Given the description of an element on the screen output the (x, y) to click on. 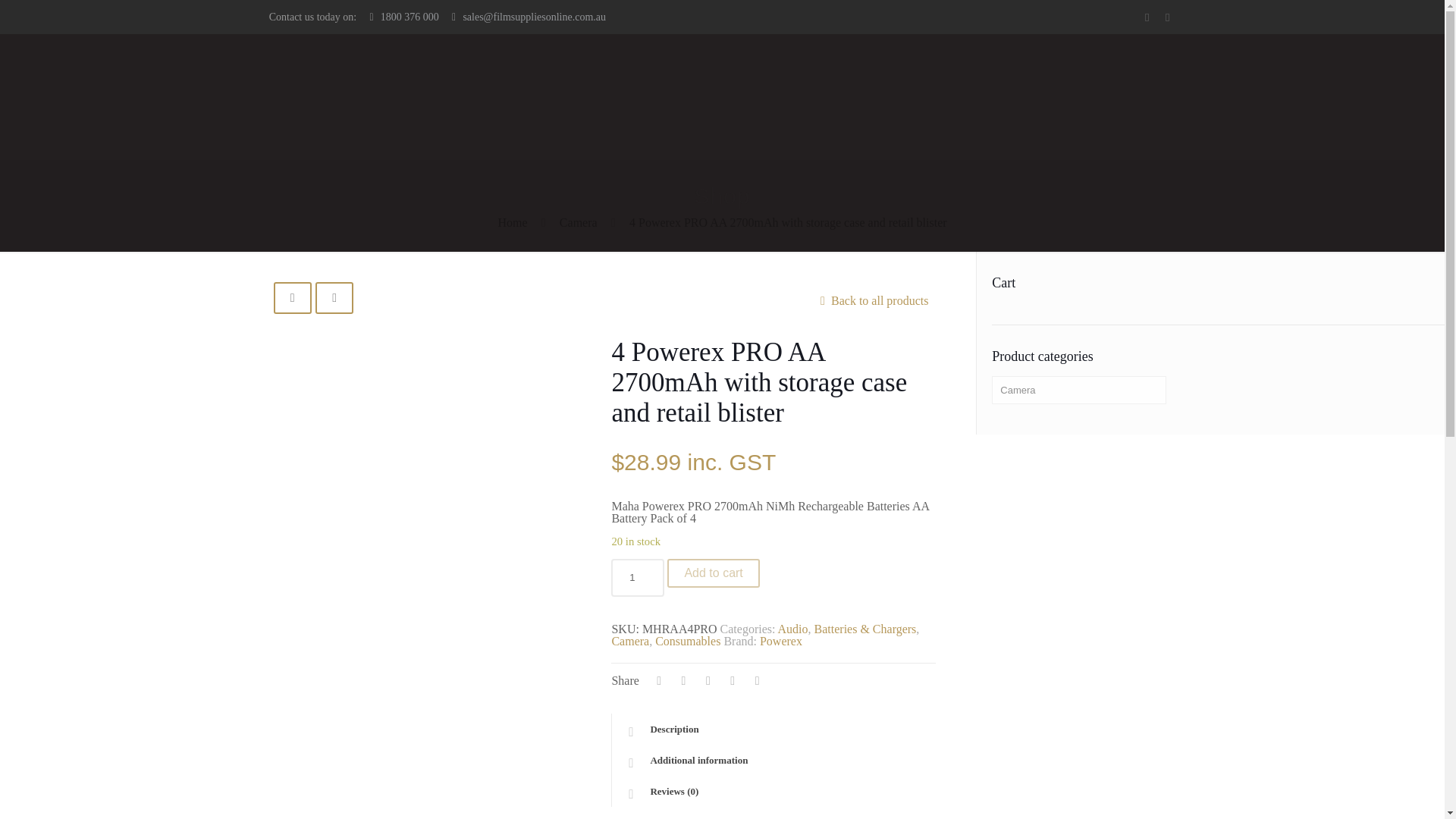
Instagram (1166, 17)
Facebook (1146, 17)
1800 376 000 (409, 16)
1 (637, 577)
